Given the description of an element on the screen output the (x, y) to click on. 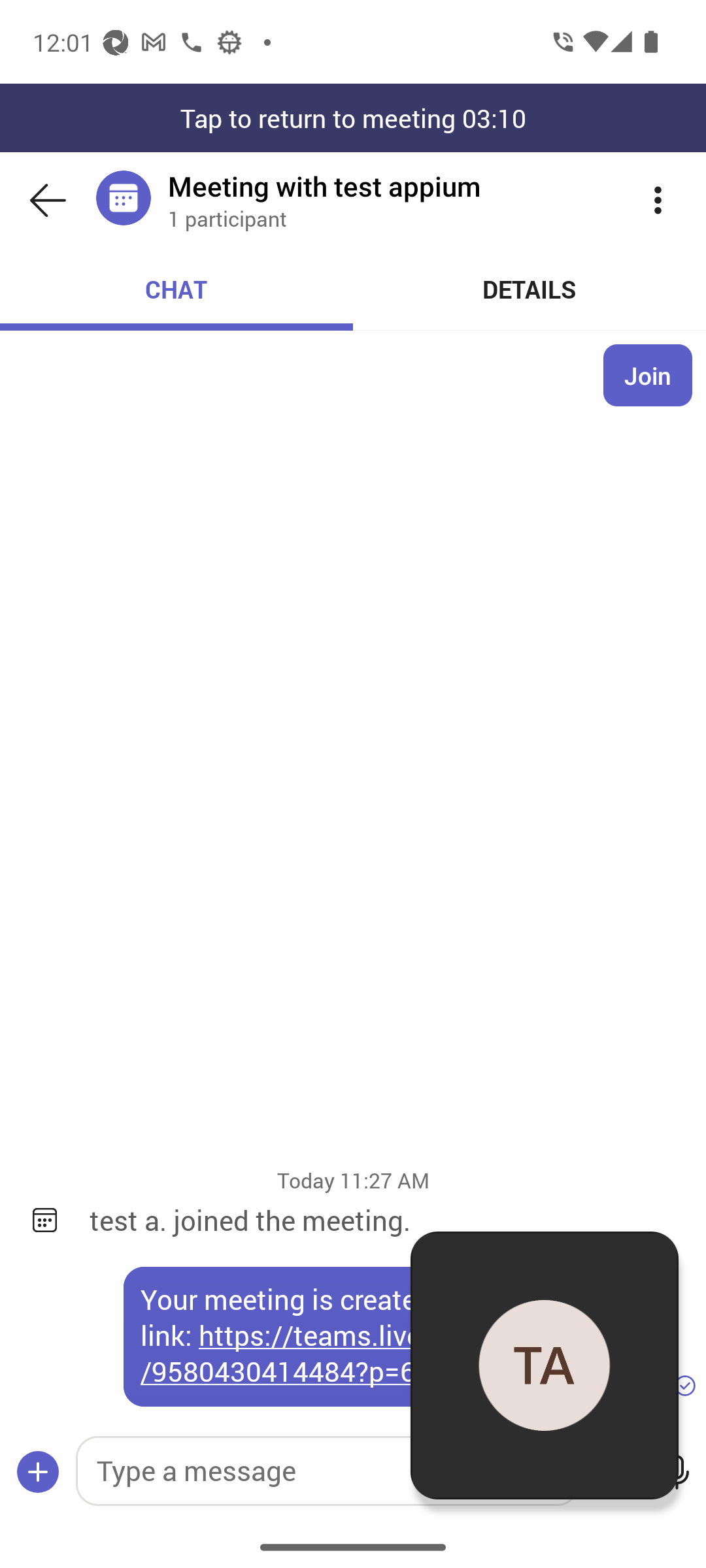
Tap to return to meeting 03:10 (353, 117)
Back (48, 199)
More options (657, 199)
Details DETAILS (529, 288)
Join (647, 375)
test a. joined the meeting. (383, 1219)
Compose options, collapsed (37, 1471)
Type a message (326, 1470)
